Given the description of an element on the screen output the (x, y) to click on. 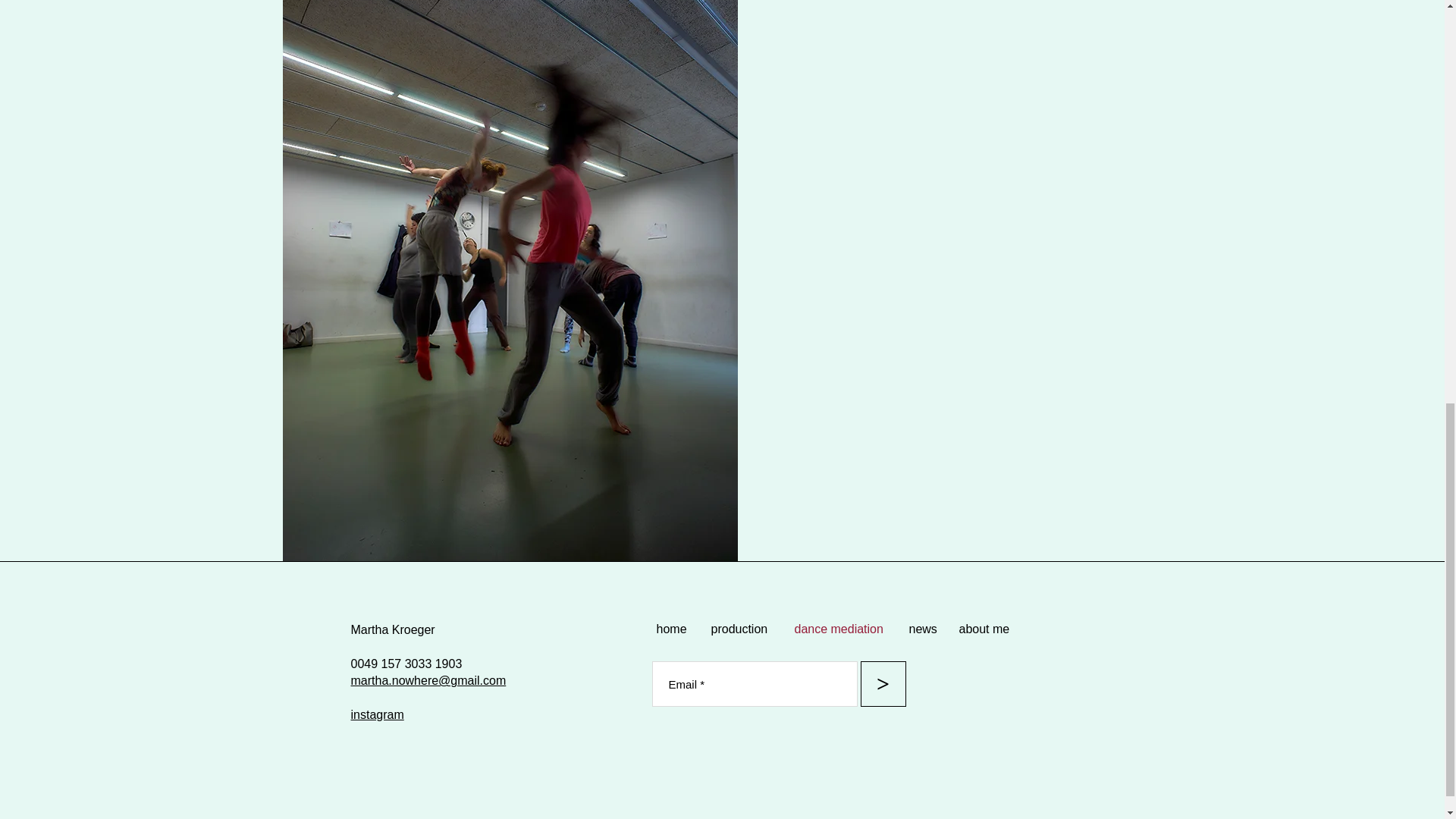
production (740, 629)
home (671, 629)
instagram (376, 714)
dance mediation (839, 629)
